Given the description of an element on the screen output the (x, y) to click on. 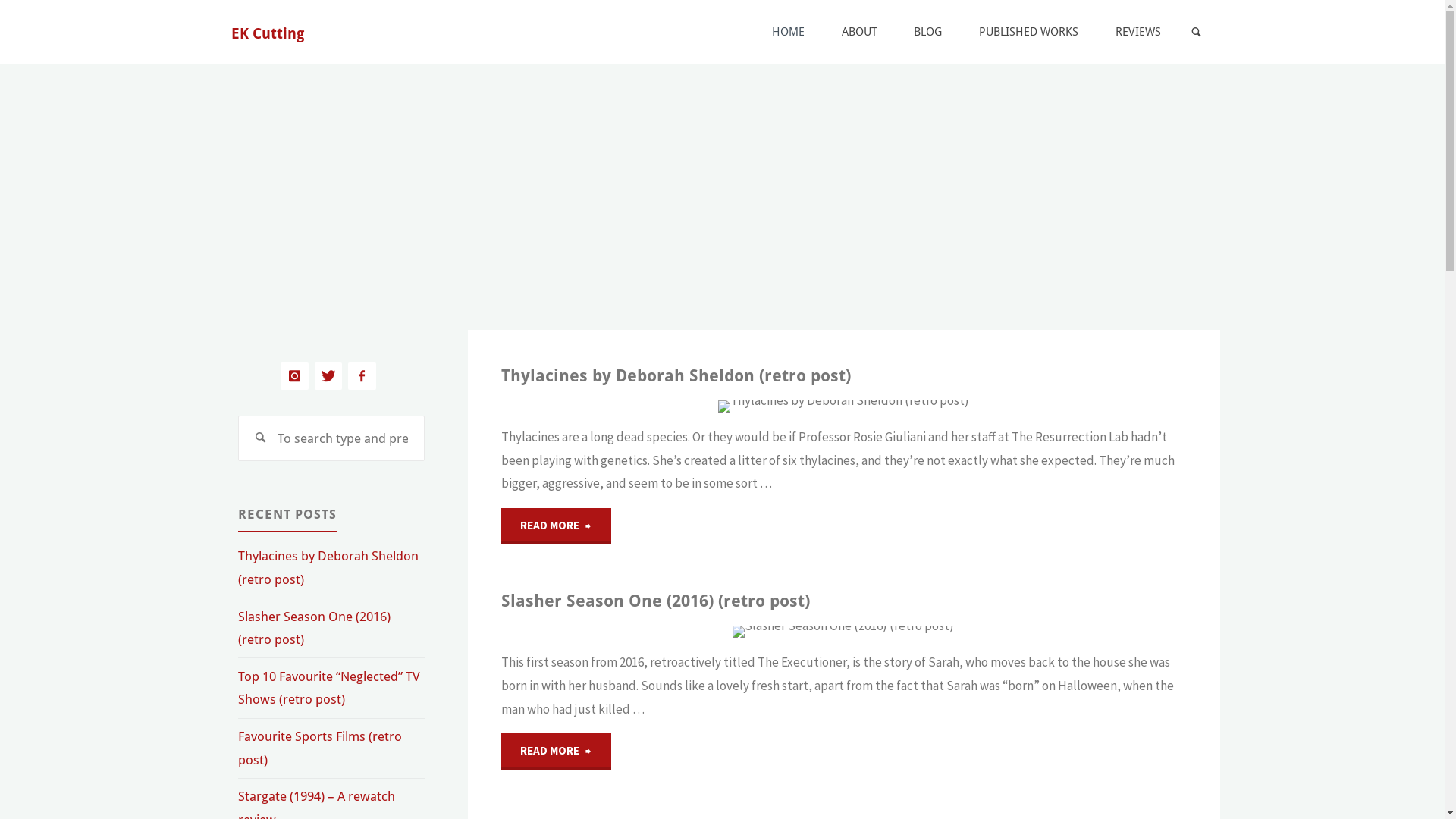
SEARCH Element type: text (1196, 32)
Instagram Element type: hover (294, 376)
Slasher Season One (2016) (retro post) Element type: text (314, 627)
Twitter Element type: hover (328, 376)
Thylacines by Deborah Sheldon (retro post) Element type: hover (956, 406)
Slasher Season One (2016) (retro post) Element type: hover (956, 631)
Facebook Element type: hover (362, 376)
EK Cutting Element type: text (267, 32)
Thylacines by Deborah Sheldon (retro post) Element type: text (675, 375)
REVIEWS Element type: text (1138, 32)
ABOUT Element type: text (858, 32)
READ MORE
"Slasher Season One (2016) (retro post)" Element type: text (556, 751)
Search Element type: text (260, 438)
BLOG Element type: text (927, 32)
Slasher Season One (2016) (retro post) Element type: text (655, 601)
PUBLISHED WORKS Element type: text (1028, 32)
READ MORE
"Thylacines by Deborah Sheldon (retro post)" Element type: text (556, 526)
HOME Element type: text (787, 32)
Thylacines by Deborah Sheldon (retro post) Element type: text (328, 567)
Favourite Sports Films (retro post) Element type: text (319, 747)
